Given the description of an element on the screen output the (x, y) to click on. 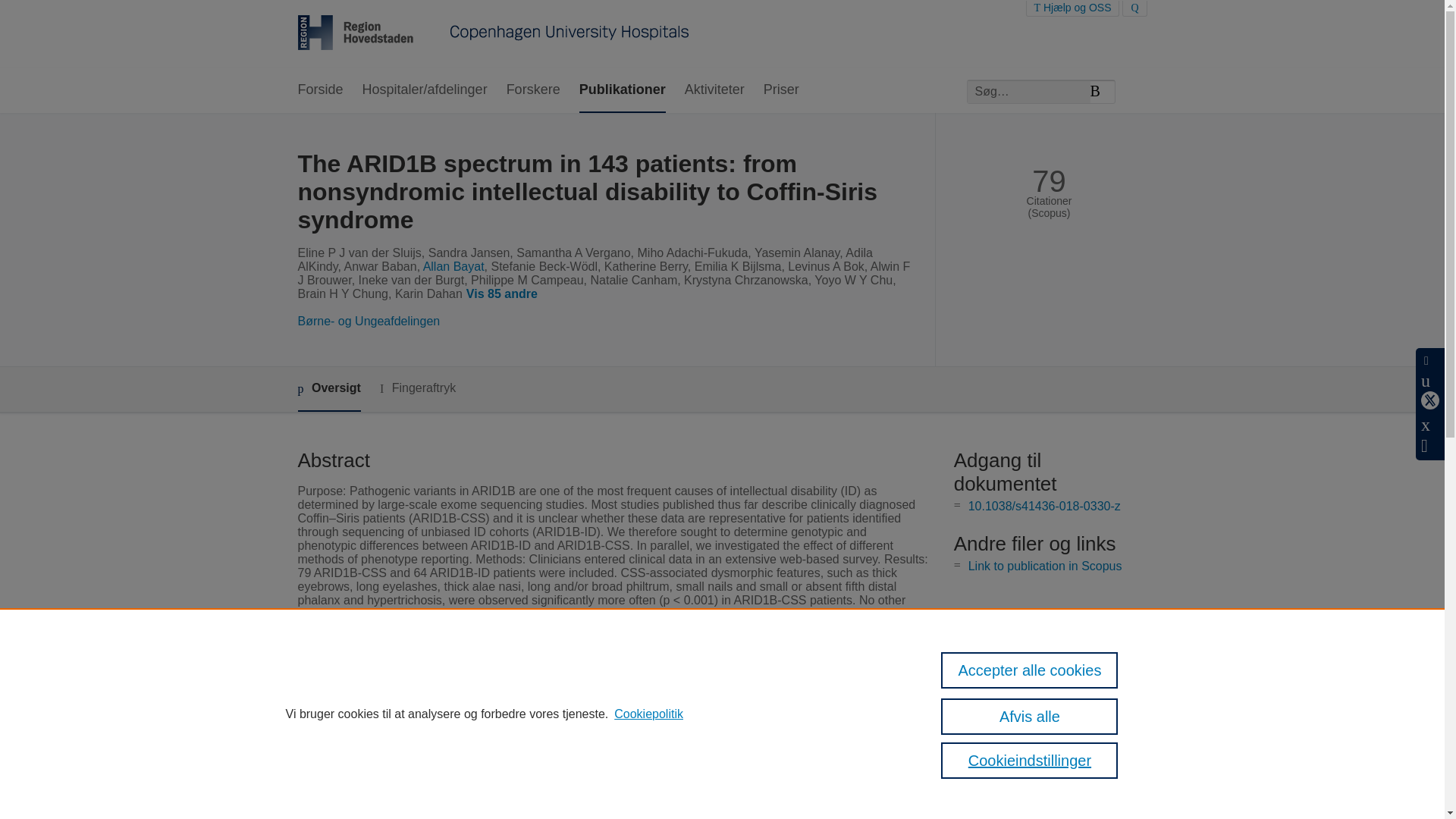
Link to publication in Scopus (1045, 565)
Vis 85 andre (505, 294)
Forskere (533, 90)
Region Hovedstadens forskningsportal Forside (492, 34)
Oversigt (328, 388)
Aktiviteter (714, 90)
Allan Bayat (453, 266)
Forside (319, 90)
Publikationer (622, 90)
